Given the description of an element on the screen output the (x, y) to click on. 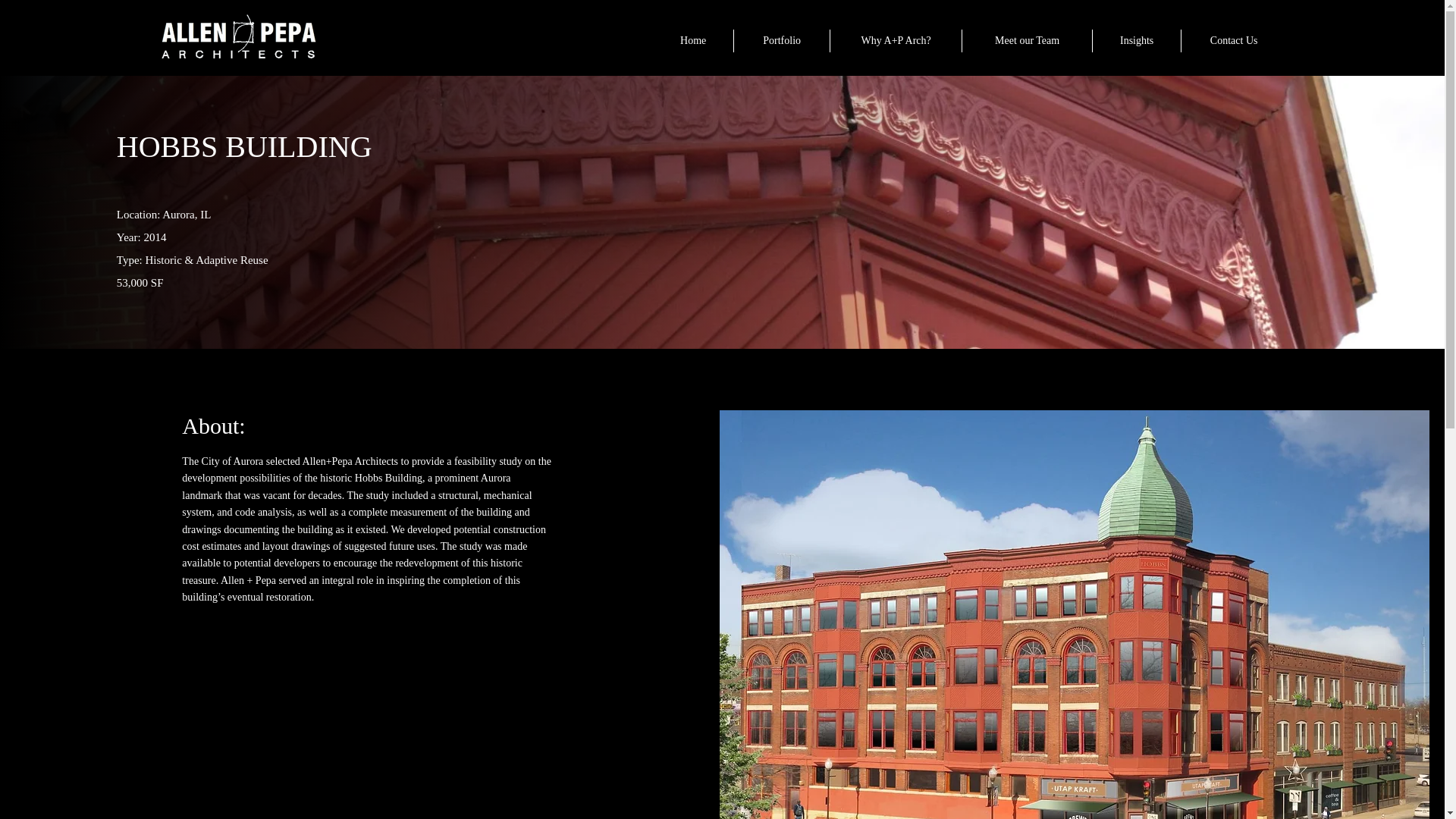
Contact Us (1232, 40)
Home (692, 40)
Insights (1136, 40)
Meet our Team (1027, 40)
Portfolio (781, 40)
